Given the description of an element on the screen output the (x, y) to click on. 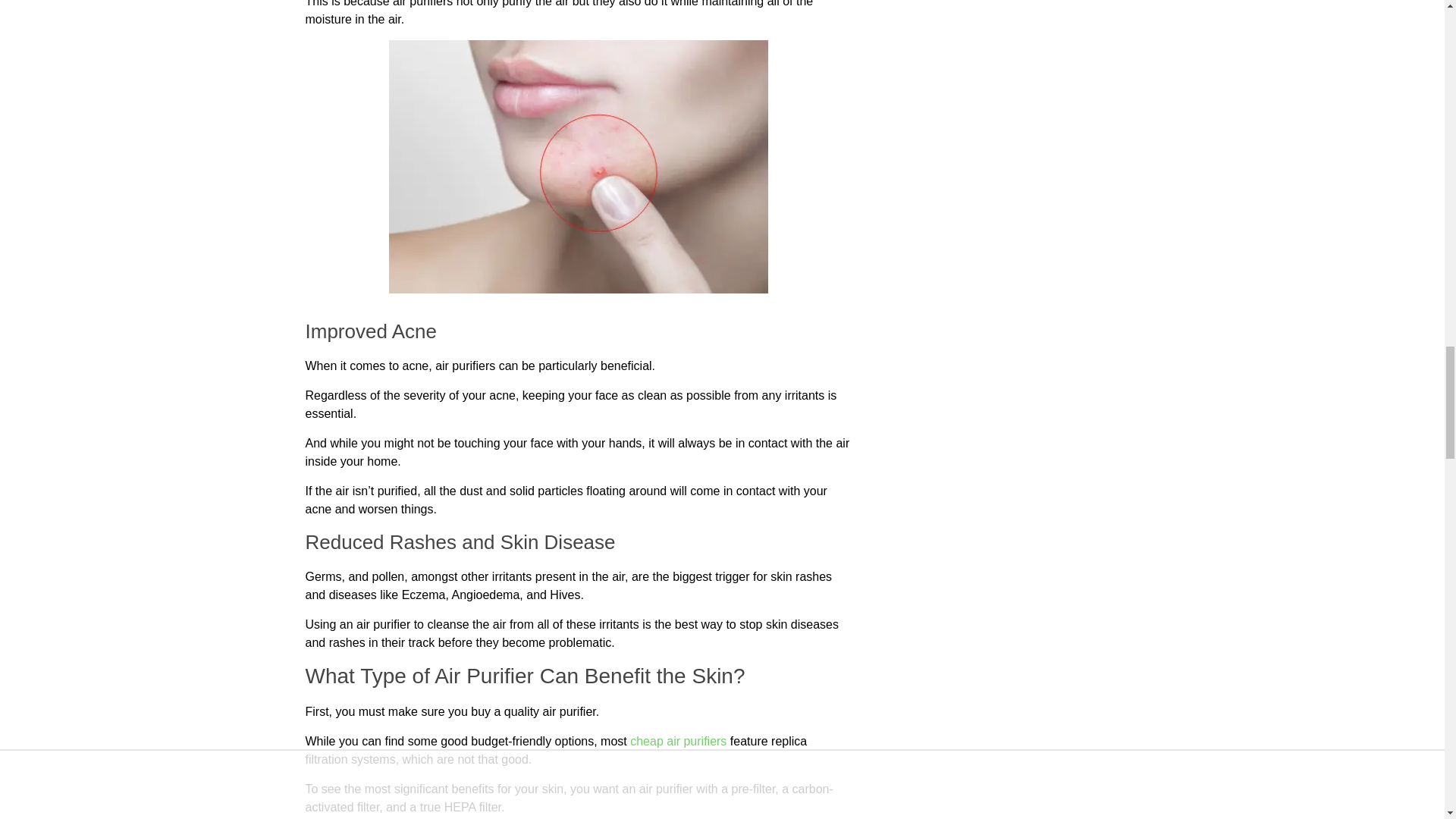
cheap air purifiers (678, 740)
